Given the description of an element on the screen output the (x, y) to click on. 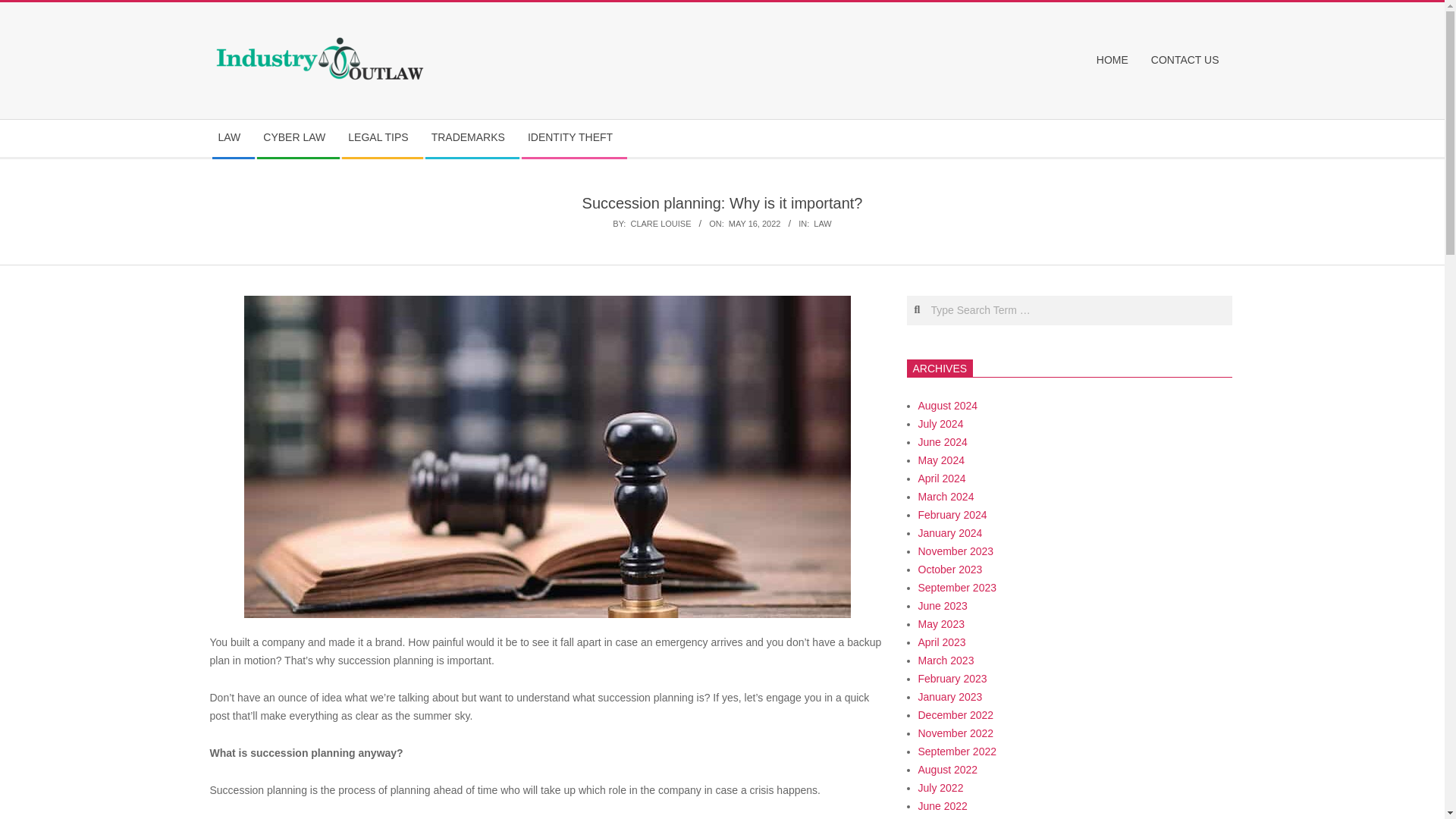
January 2023 (949, 696)
July 2022 (939, 787)
September 2023 (956, 587)
May 2023 (940, 623)
June 2022 (941, 806)
Monday, May 16, 2022, 7:54 pm (754, 223)
May 2024 (940, 460)
TRADEMARKS (471, 138)
October 2023 (949, 569)
November 2022 (954, 733)
January 2024 (949, 532)
LAW (233, 138)
March 2024 (945, 496)
CONTACT US (1188, 60)
LEGAL TIPS (381, 138)
